Given the description of an element on the screen output the (x, y) to click on. 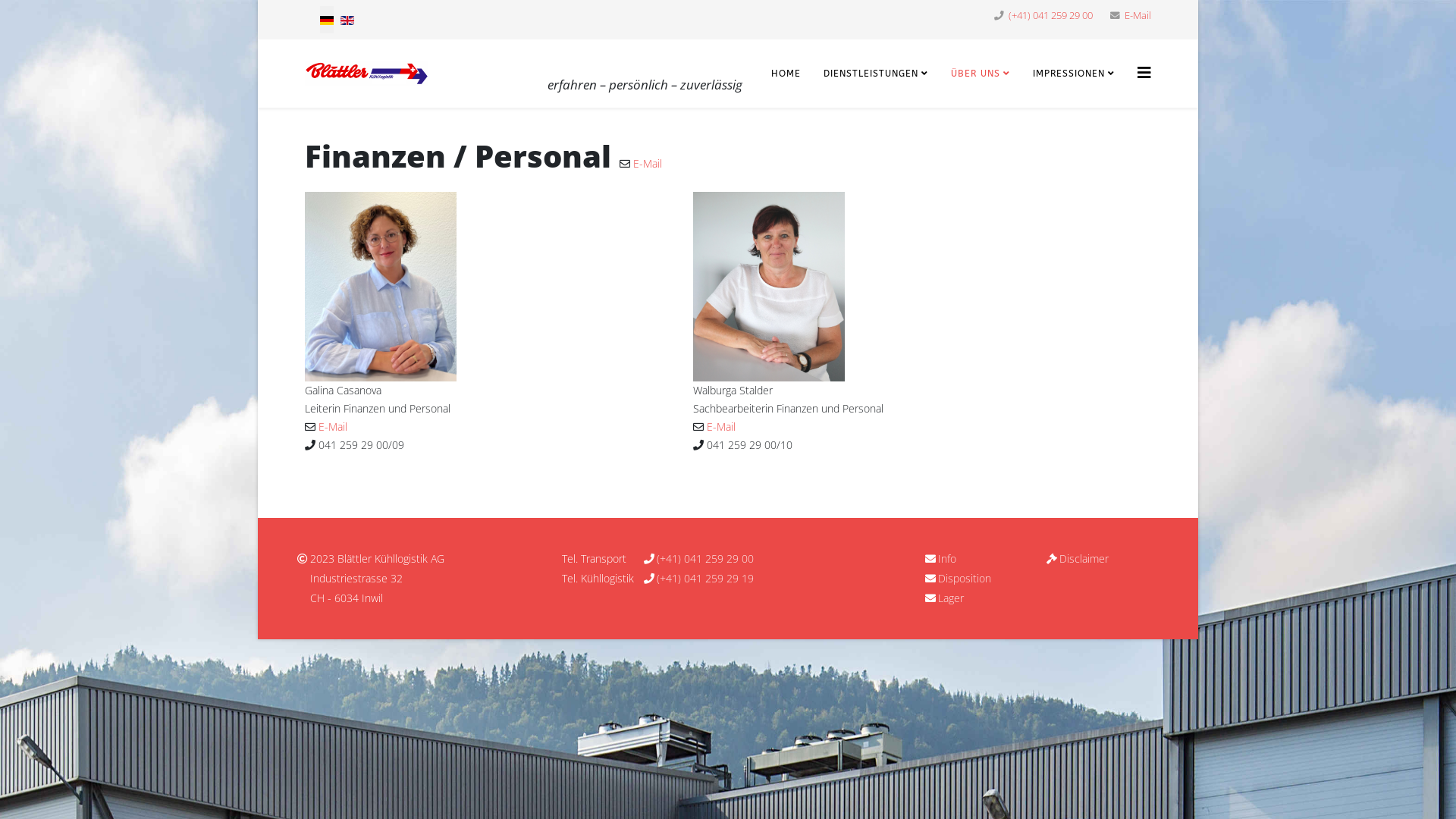
E-Mail Element type: text (720, 426)
Lager Element type: text (950, 597)
Deutsch Element type: hover (326, 20)
Disclaimer Element type: text (1083, 558)
E-Mail Element type: text (647, 163)
Disposition Element type: text (964, 578)
IMPRESSIONEN Element type: text (1073, 73)
Info Element type: text (947, 558)
E-Mail Element type: text (1137, 15)
DIENSTLEISTUNGEN Element type: text (875, 73)
(+41) 041 259 29 19 Element type: text (704, 578)
Helix3 Megamenu Options Element type: hover (1144, 72)
English Element type: hover (347, 20)
(+41) 041 259 29 00 Element type: text (1050, 15)
E-Mail Element type: text (332, 426)
(+41) 041 259 29 00 Element type: text (704, 558)
HOME Element type: text (785, 73)
